Given the description of an element on the screen output the (x, y) to click on. 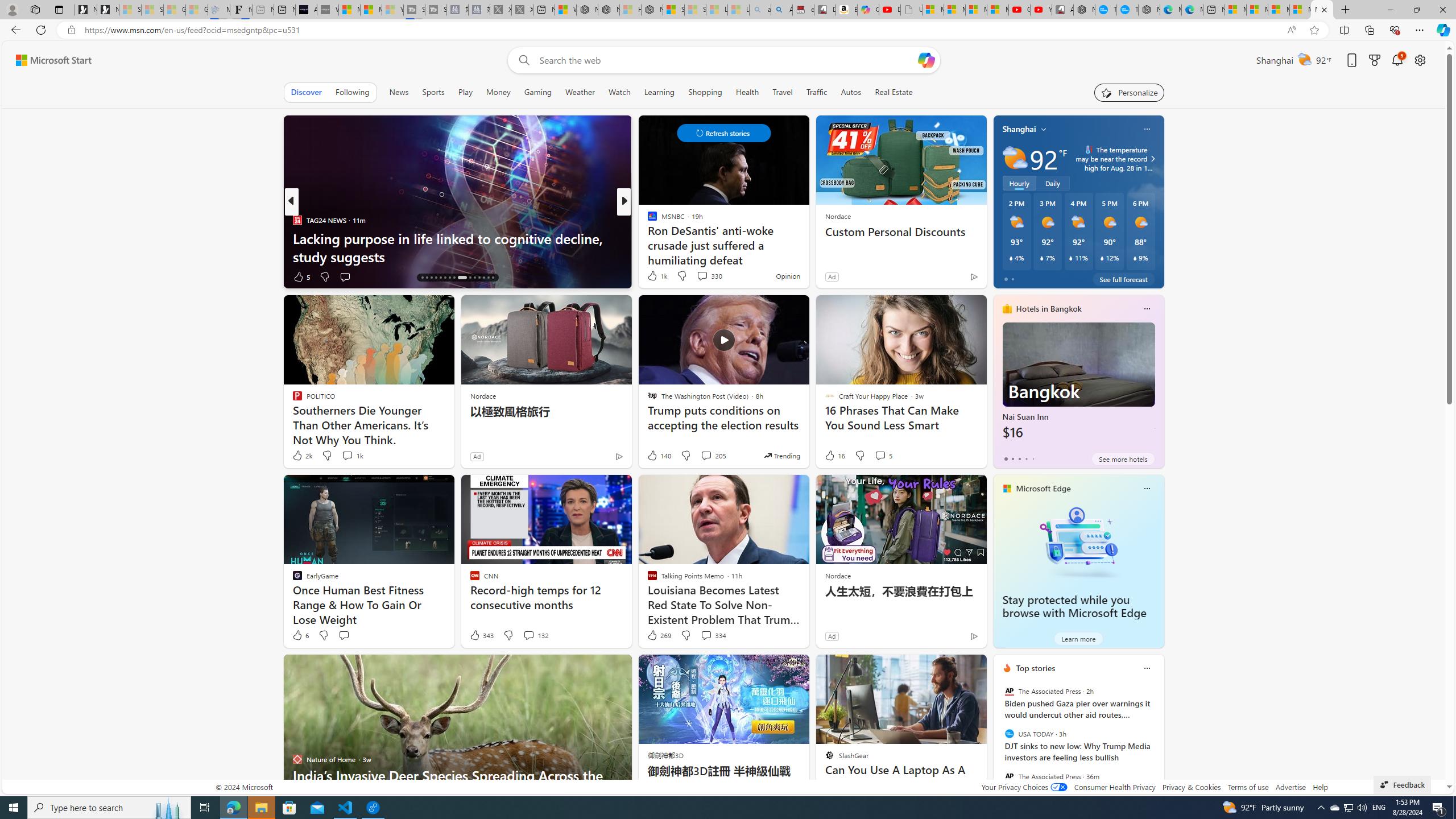
ABC News (647, 219)
5 Like (301, 276)
AutomationID: tab-27 (478, 277)
TAG24 NEWS (296, 219)
